Given the description of an element on the screen output the (x, y) to click on. 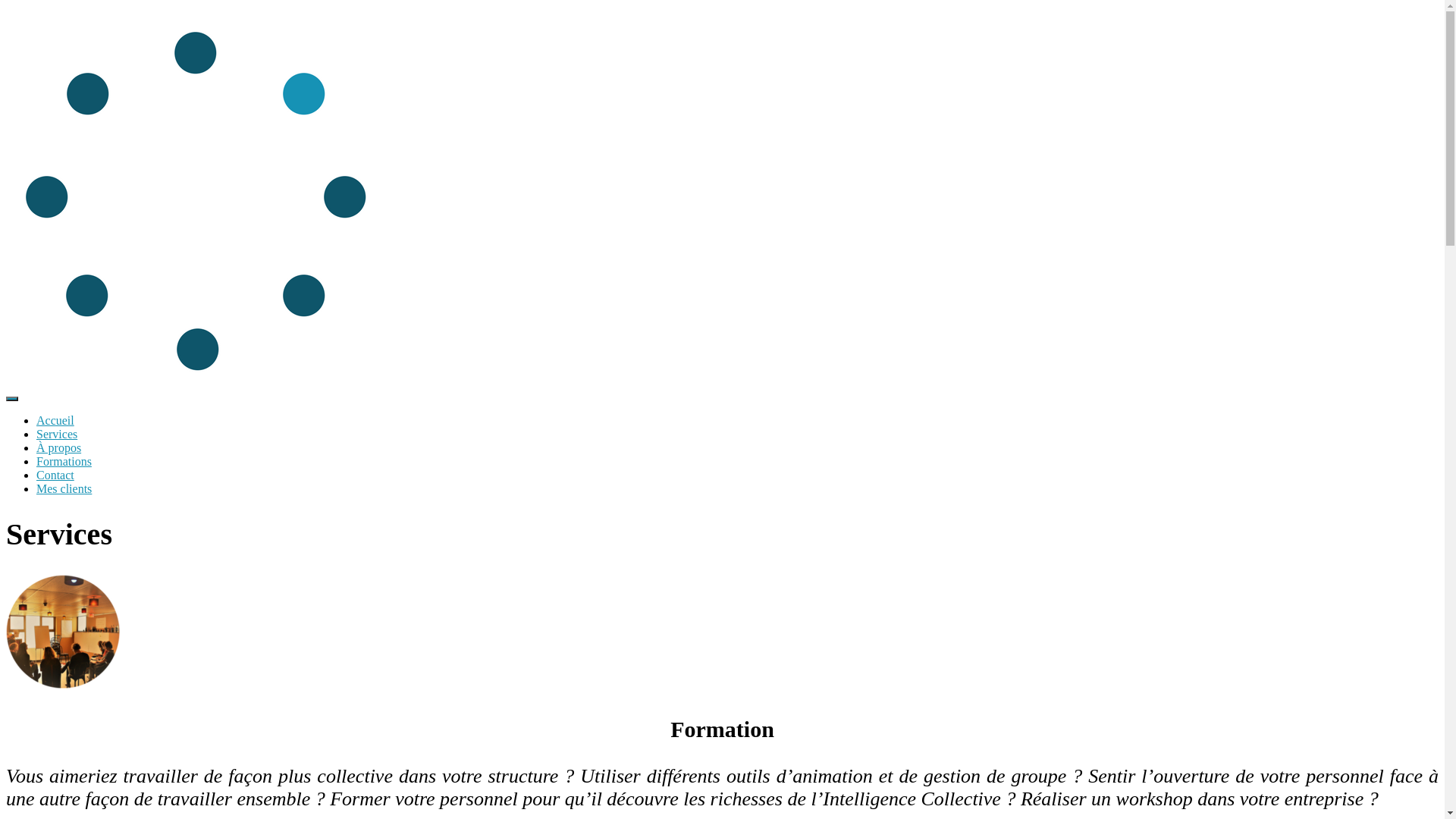
Accueil Element type: text (55, 420)
Bertrand Willems Element type: hover (195, 380)
Formations Element type: text (63, 461)
Services Element type: text (56, 433)
Mes clients Element type: text (63, 488)
Toggle Navigation Element type: text (12, 398)
Contact Element type: text (55, 474)
